Given the description of an element on the screen output the (x, y) to click on. 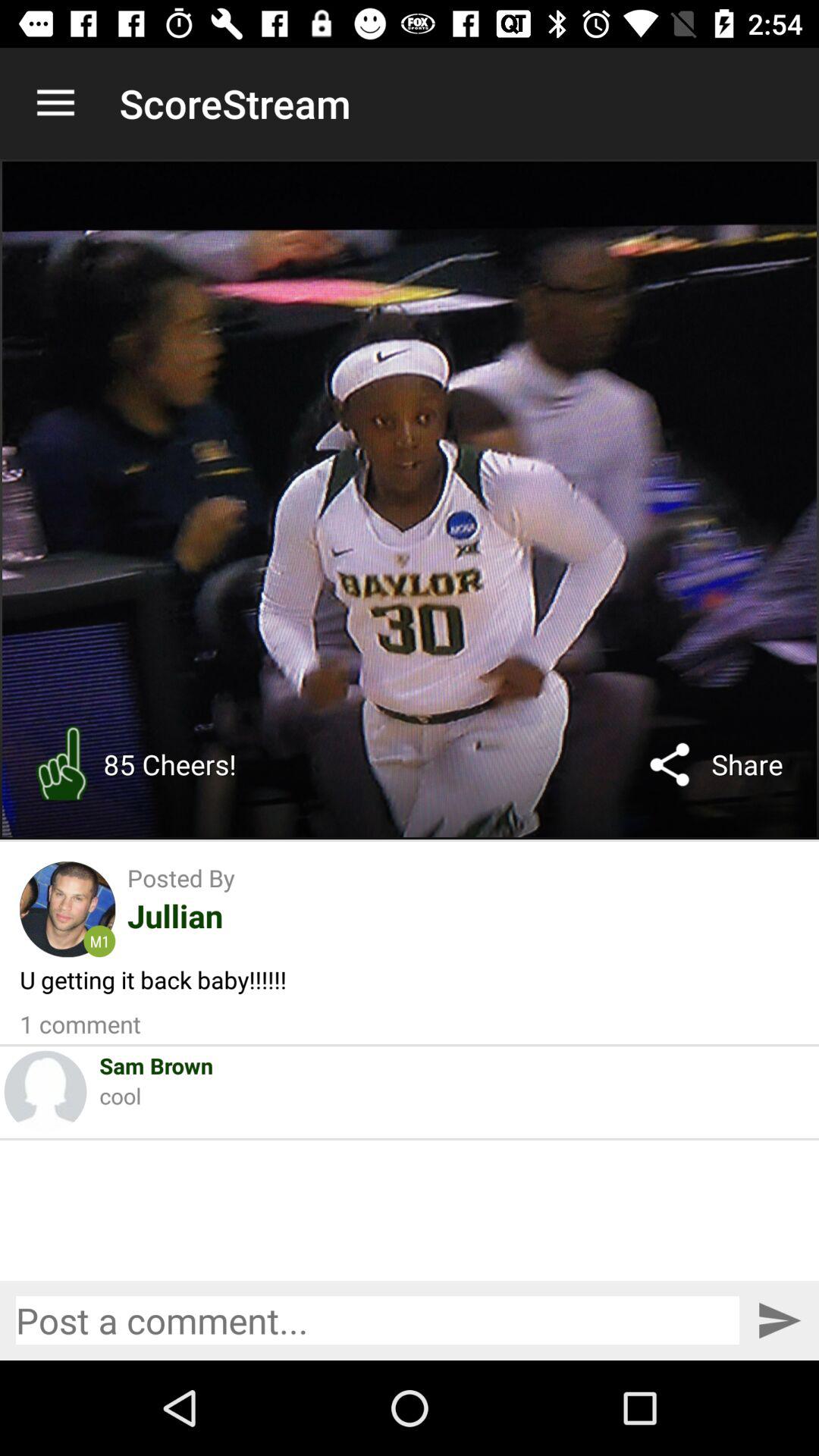
turn on the icon to the right of the 85 cheers! (669, 764)
